Given the description of an element on the screen output the (x, y) to click on. 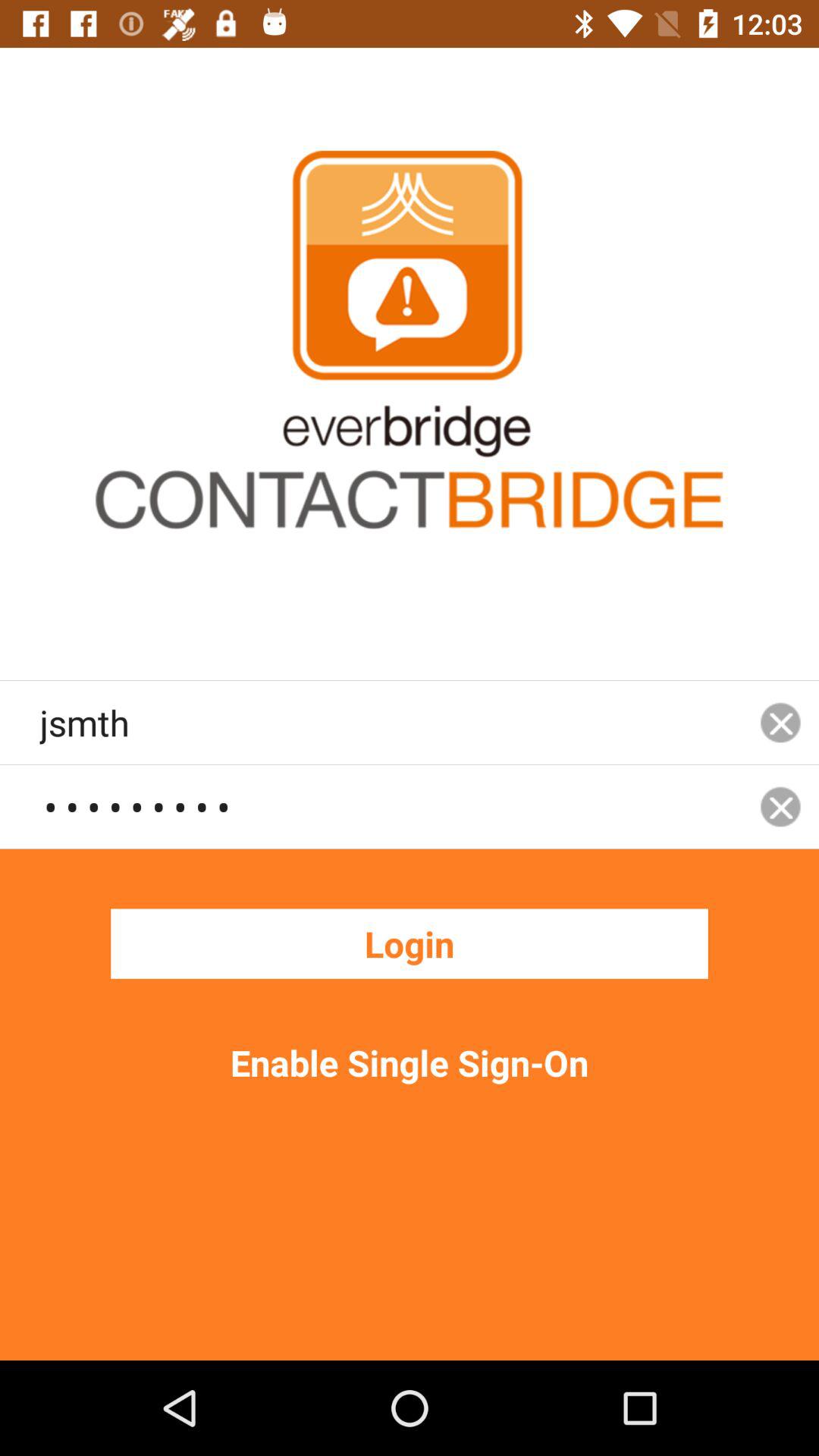
open the jsmth item (390, 722)
